Given the description of an element on the screen output the (x, y) to click on. 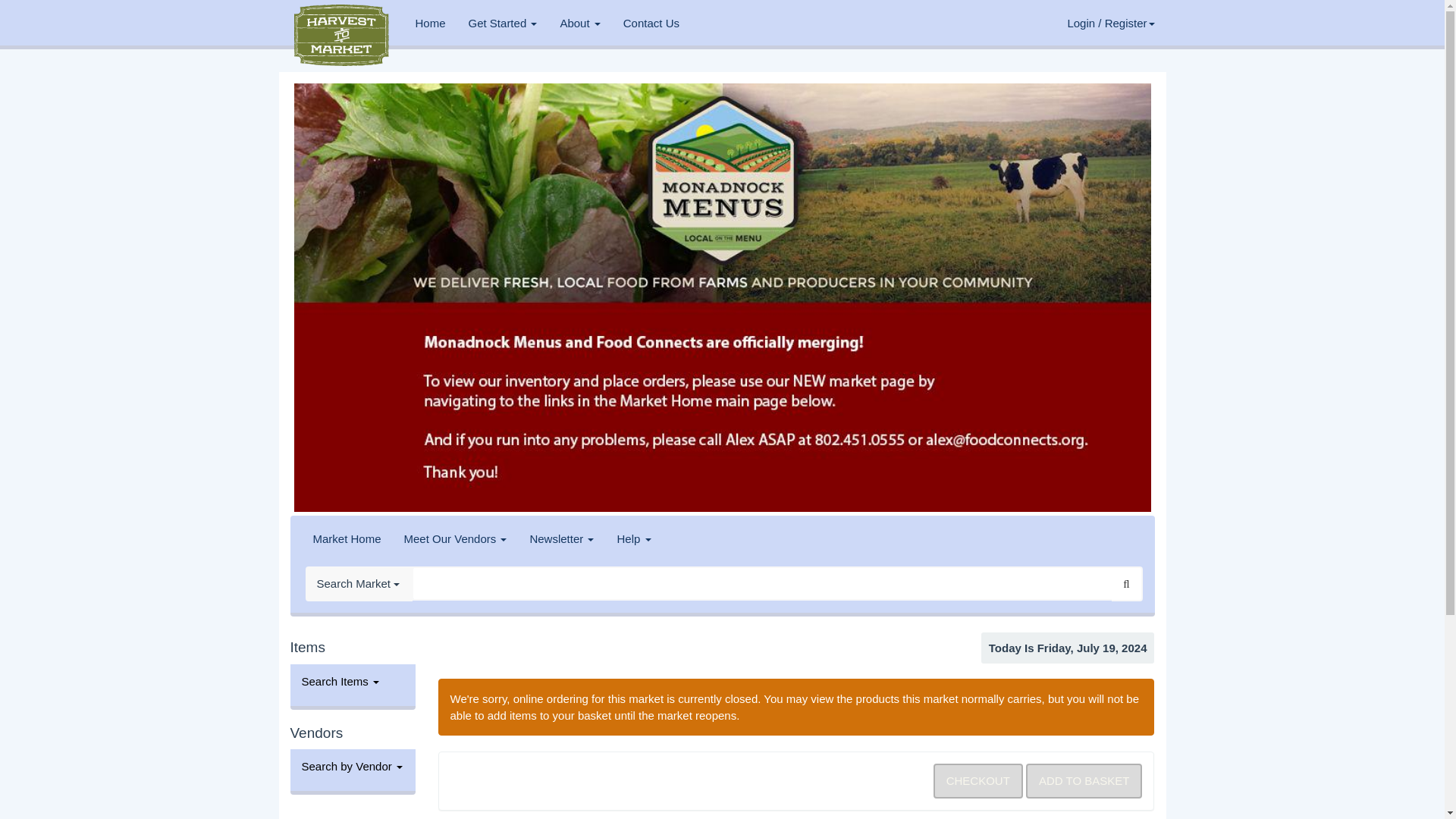
Newsletter (561, 538)
Home (430, 22)
Meet Our Vendors (455, 538)
CHECKOUT (978, 780)
Contact Us (650, 22)
Market Home (347, 538)
ADD TO BASKET (1083, 780)
About (579, 22)
Get Started (502, 22)
